Given the description of an element on the screen output the (x, y) to click on. 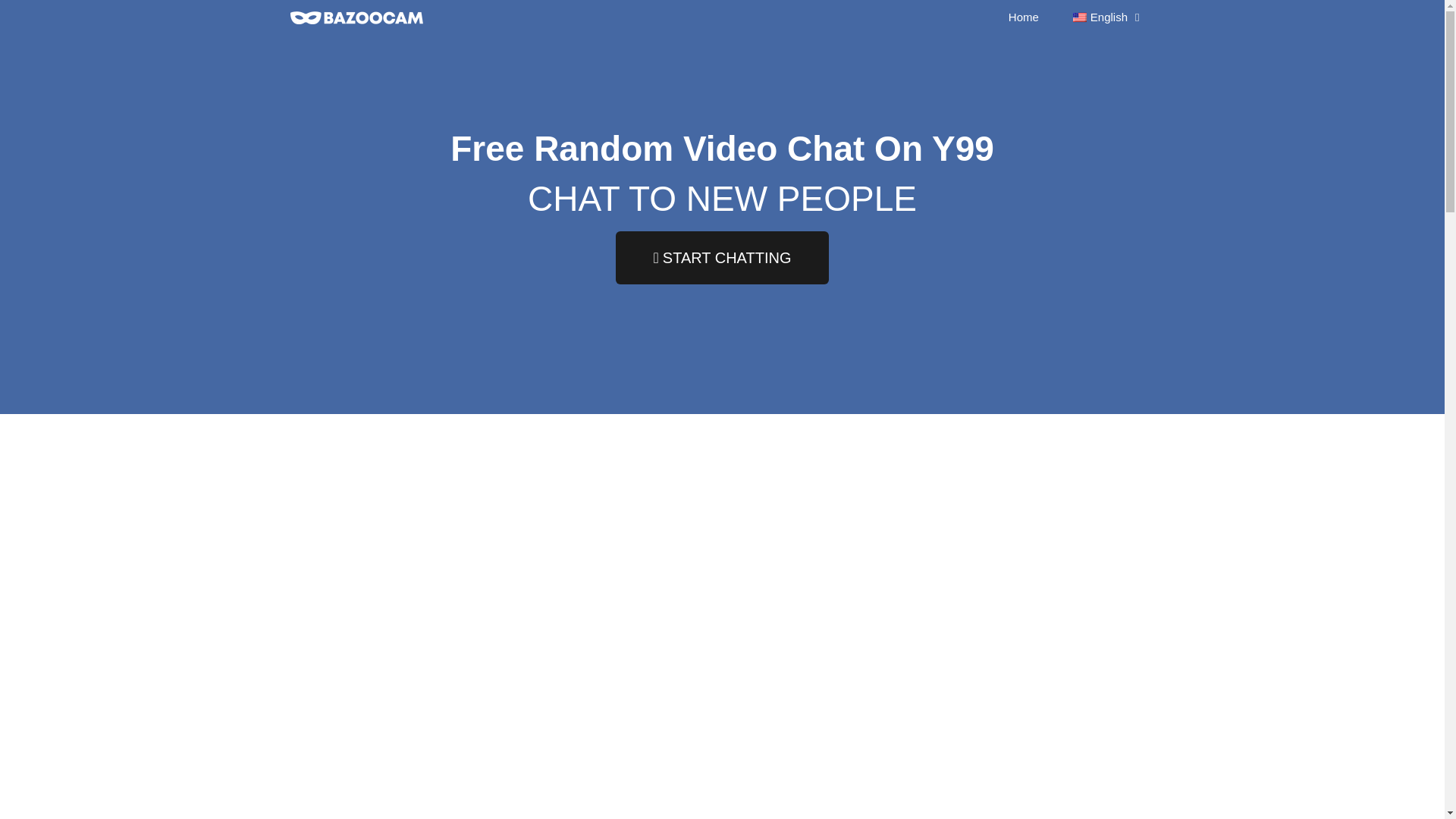
bazoocam (355, 17)
START CHATTING (722, 256)
Home (1023, 17)
English (1079, 17)
English (1104, 17)
